Given the description of an element on the screen output the (x, y) to click on. 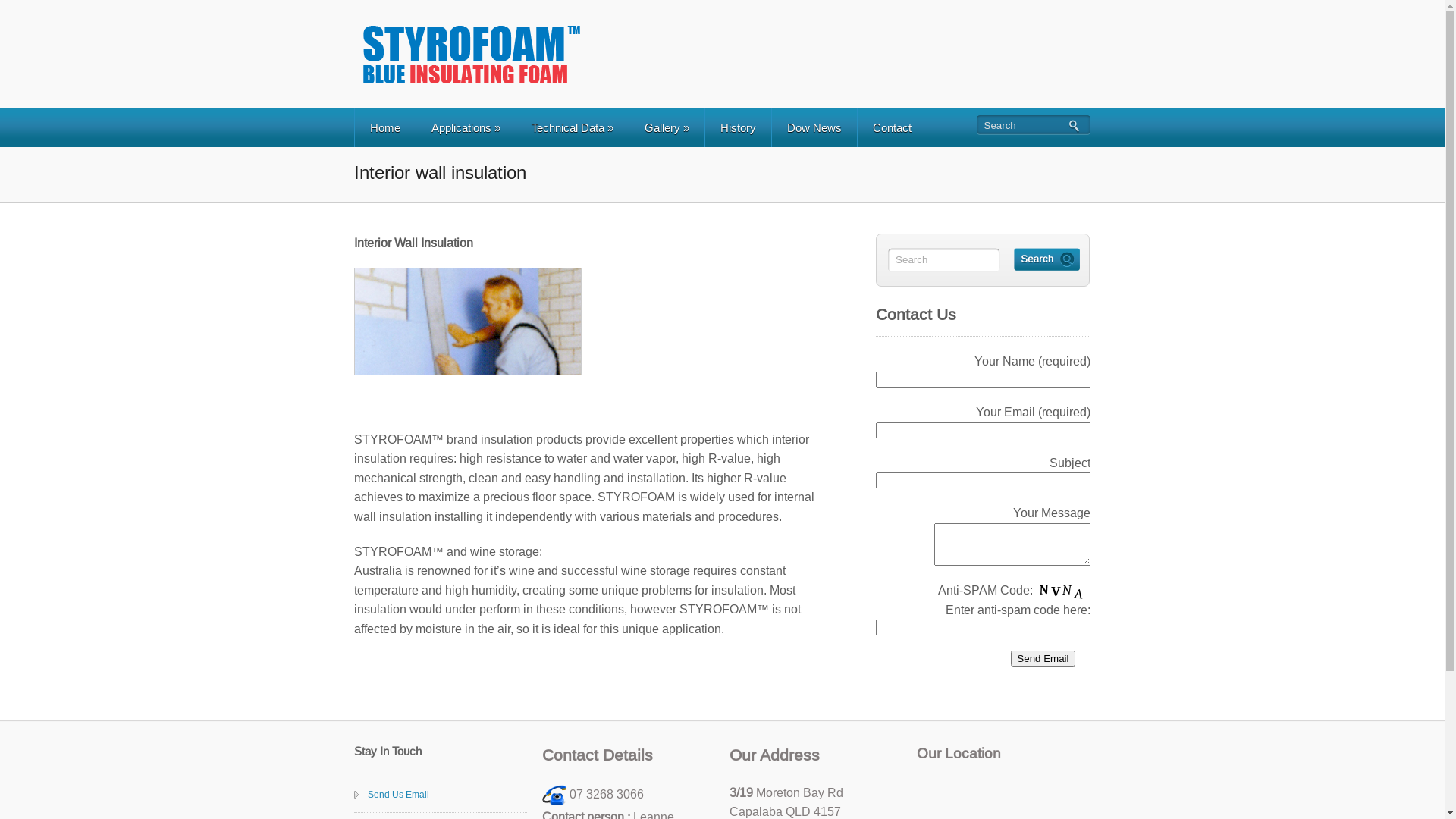
Contact Element type: text (891, 127)
Send Us Email Element type: text (398, 794)
Dow News Element type: text (813, 127)
History Element type: text (737, 127)
Home Element type: text (384, 127)
Send Email Element type: text (1042, 658)
